Given the description of an element on the screen output the (x, y) to click on. 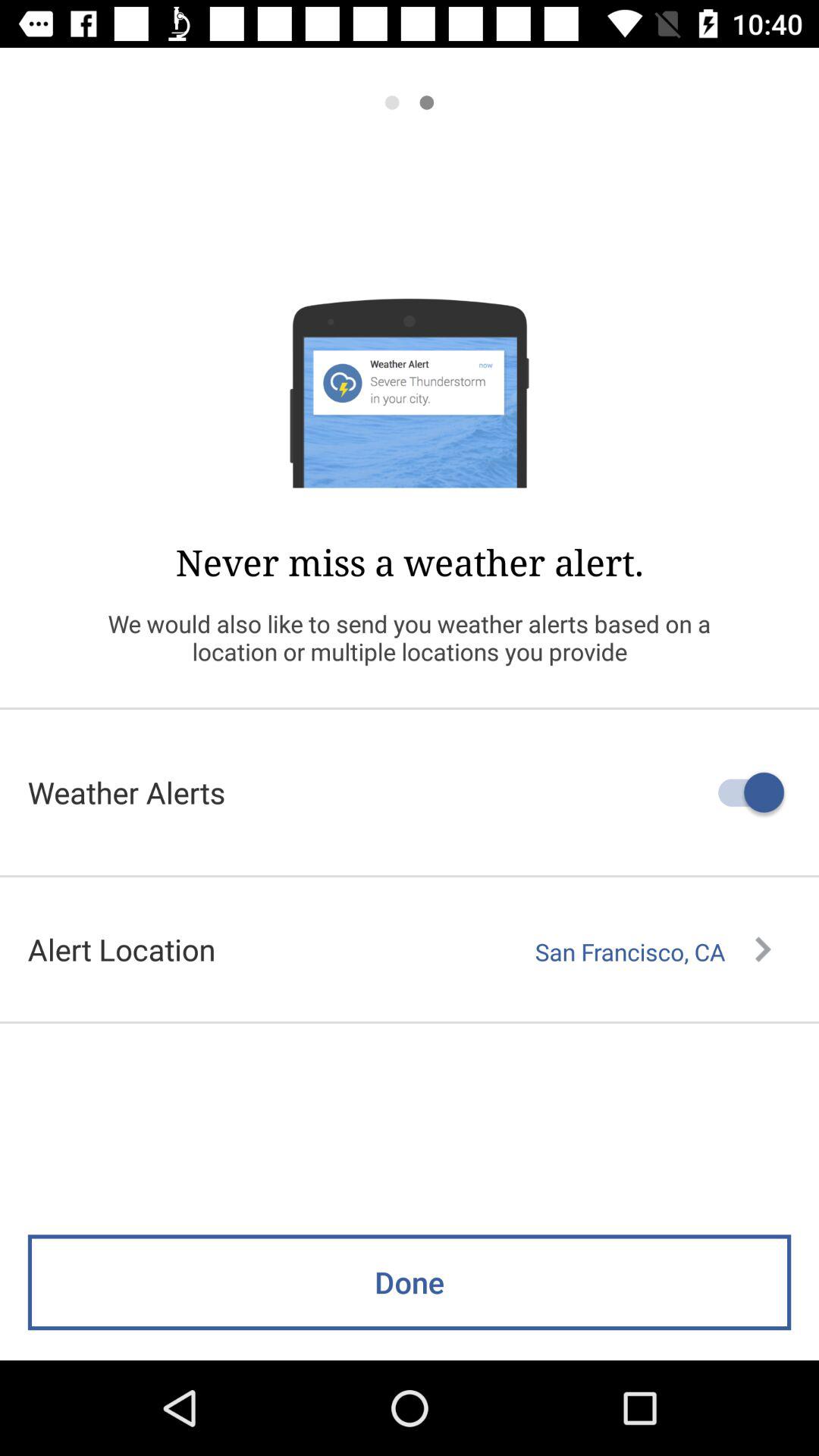
swipe until the done icon (409, 1282)
